Given the description of an element on the screen output the (x, y) to click on. 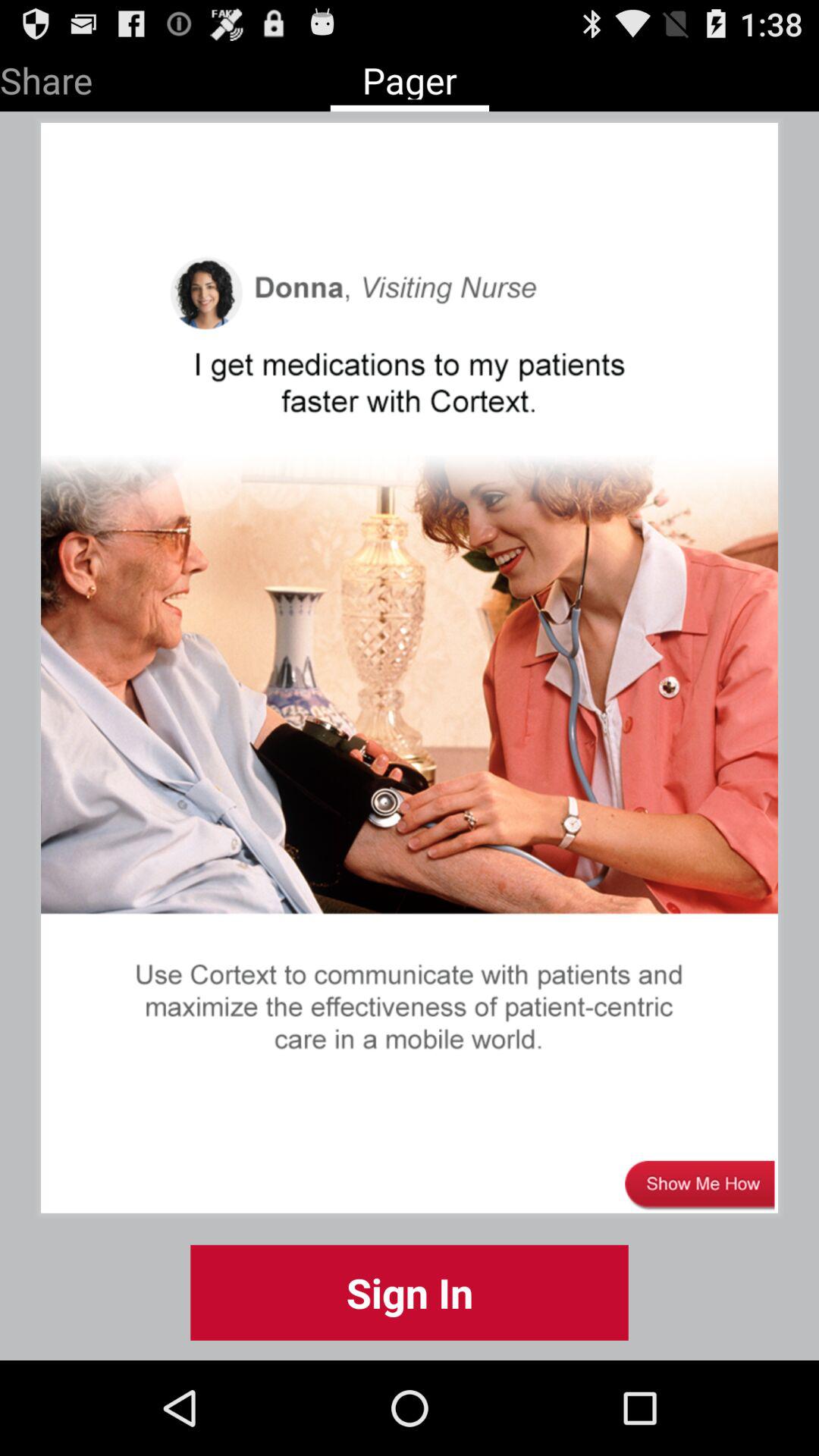
flip to the sign in item (409, 1292)
